Given the description of an element on the screen output the (x, y) to click on. 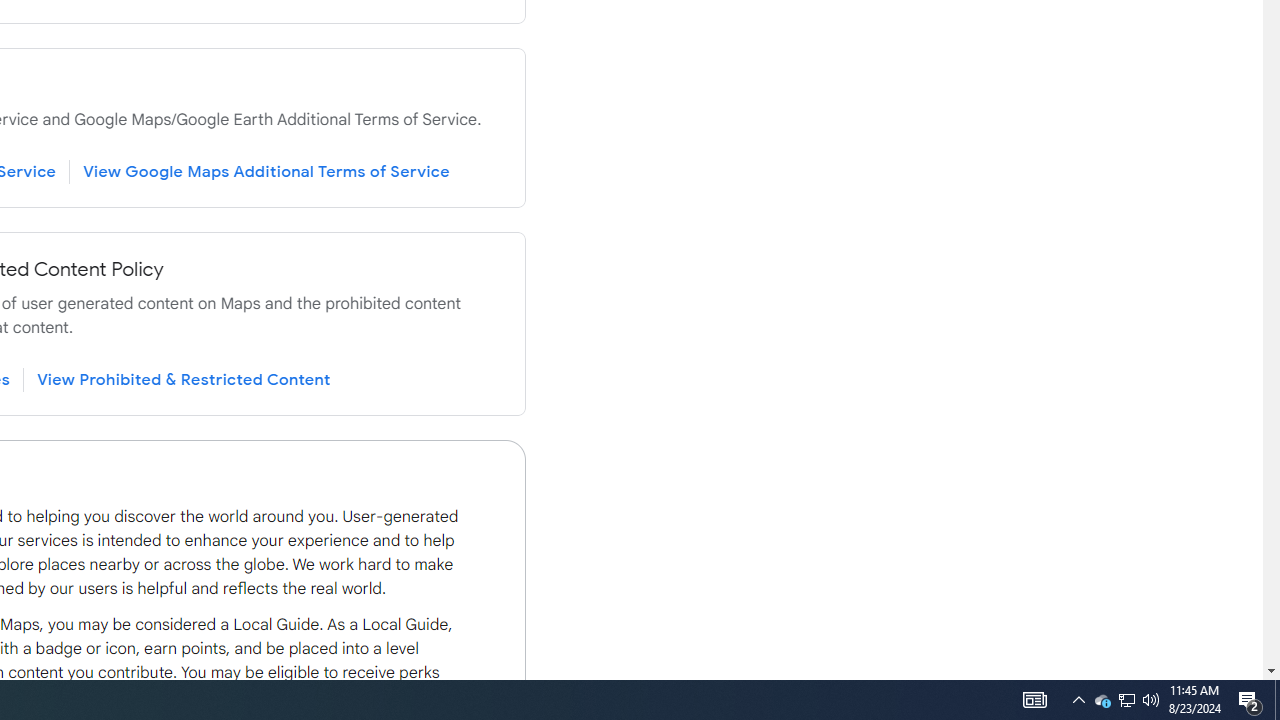
View Prohibited & Restricted Content (184, 379)
